Given the description of an element on the screen output the (x, y) to click on. 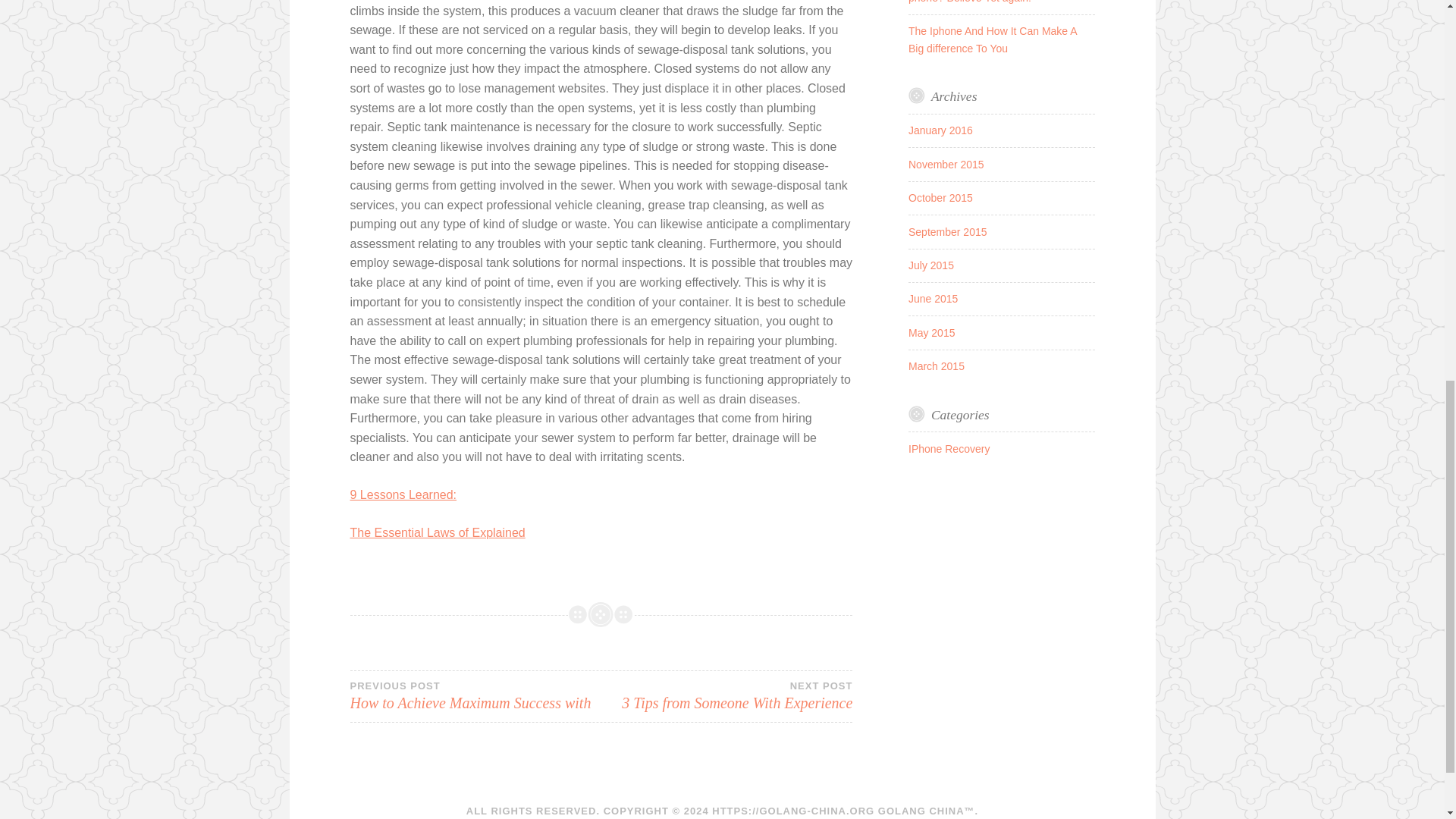
IPhone Recovery (949, 449)
January 2016 (940, 130)
July 2015 (930, 265)
The Essential Laws of Explained (437, 532)
November 2015 (946, 164)
9 Lessons Learned: (403, 494)
March 2015 (935, 366)
October 2015 (940, 197)
Feel Your Iphone Is Just A Mobile phone? Believe Yet again! (986, 2)
The Iphone And How It Can Make A Big difference To You (992, 39)
May 2015 (475, 695)
June 2015 (726, 695)
September 2015 (931, 332)
